Given the description of an element on the screen output the (x, y) to click on. 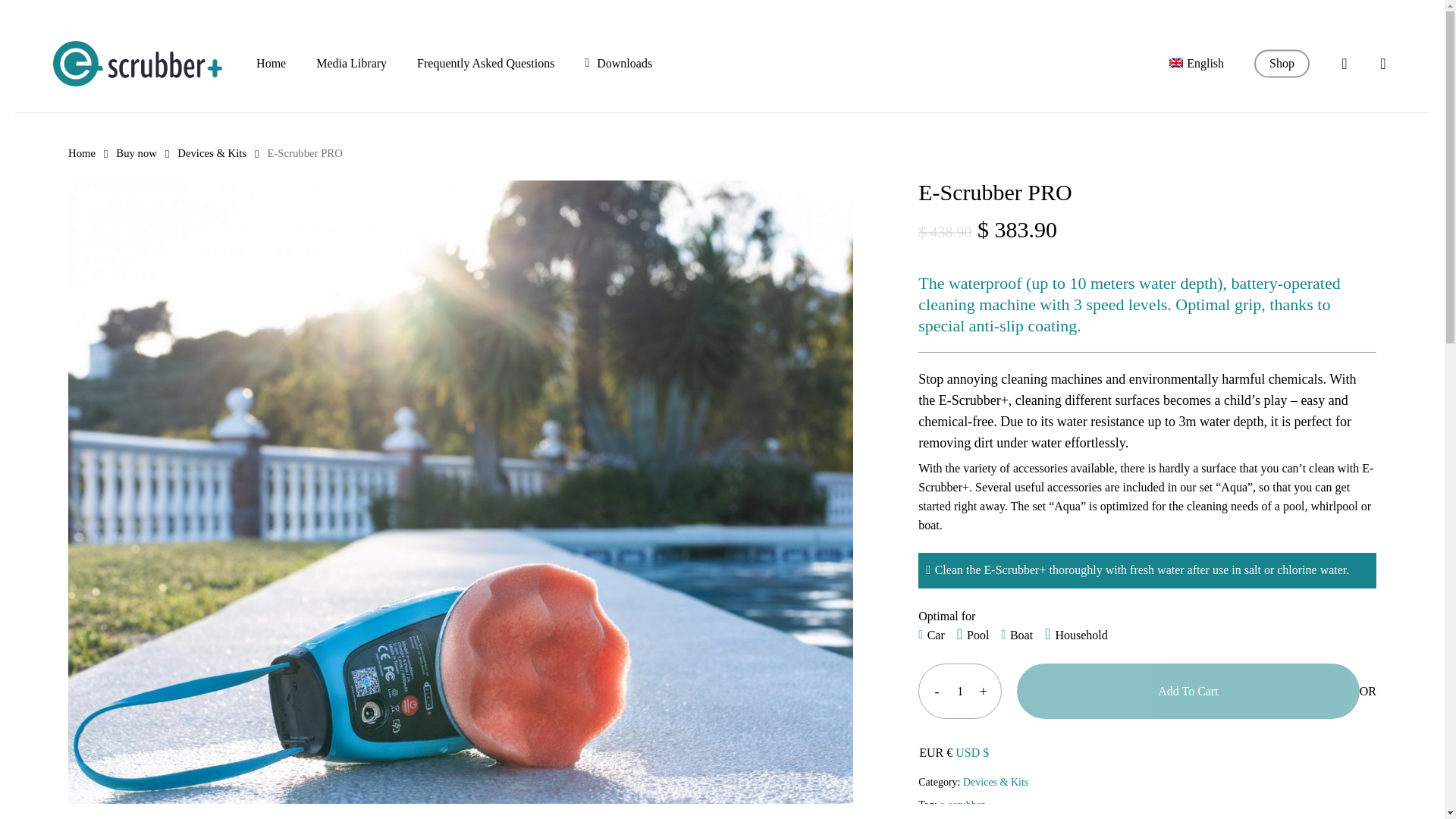
Home (82, 152)
English (1196, 63)
English (1196, 63)
Add To Cart (1187, 691)
e-scrubber (961, 804)
account (1344, 64)
Media Library (351, 63)
Home (270, 63)
Buy now (136, 152)
Downloads (618, 63)
